Given the description of an element on the screen output the (x, y) to click on. 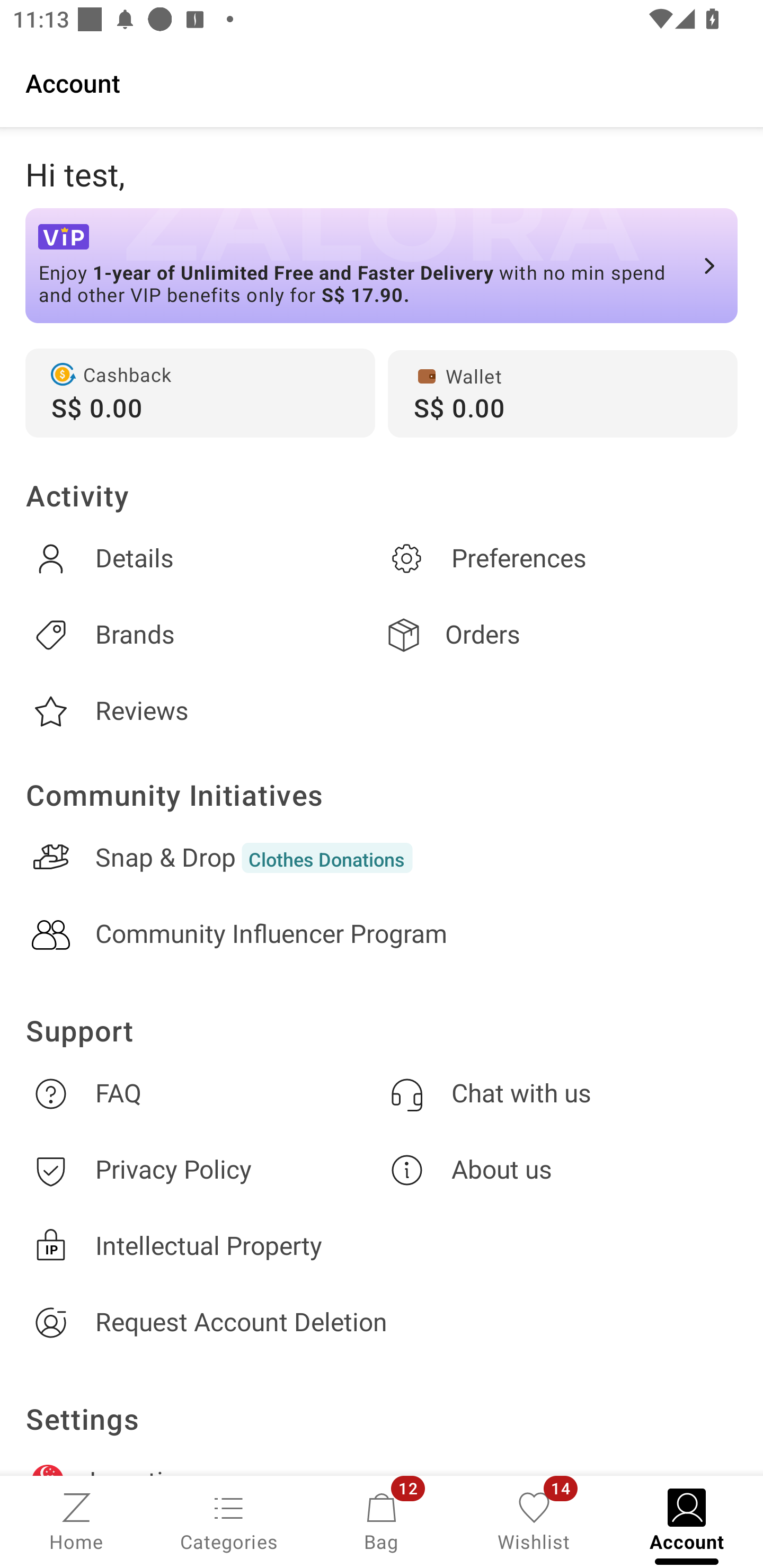
Account (381, 82)
Details (203, 558)
Preferences (559, 558)
Brands (203, 634)
Orders (559, 634)
Reviews (203, 710)
Snap & DropClothes Donations (381, 858)
Community Influencer Program (381, 934)
FAQ (203, 1093)
Chat with us (559, 1093)
Privacy Policy (203, 1170)
About us (559, 1170)
Intellectual Property (381, 1246)
Request Account Deletion (381, 1322)
Home (76, 1519)
Categories (228, 1519)
Bag, 12 new notifications Bag (381, 1519)
Wishlist, 14 new notifications Wishlist (533, 1519)
